Given the description of an element on the screen output the (x, y) to click on. 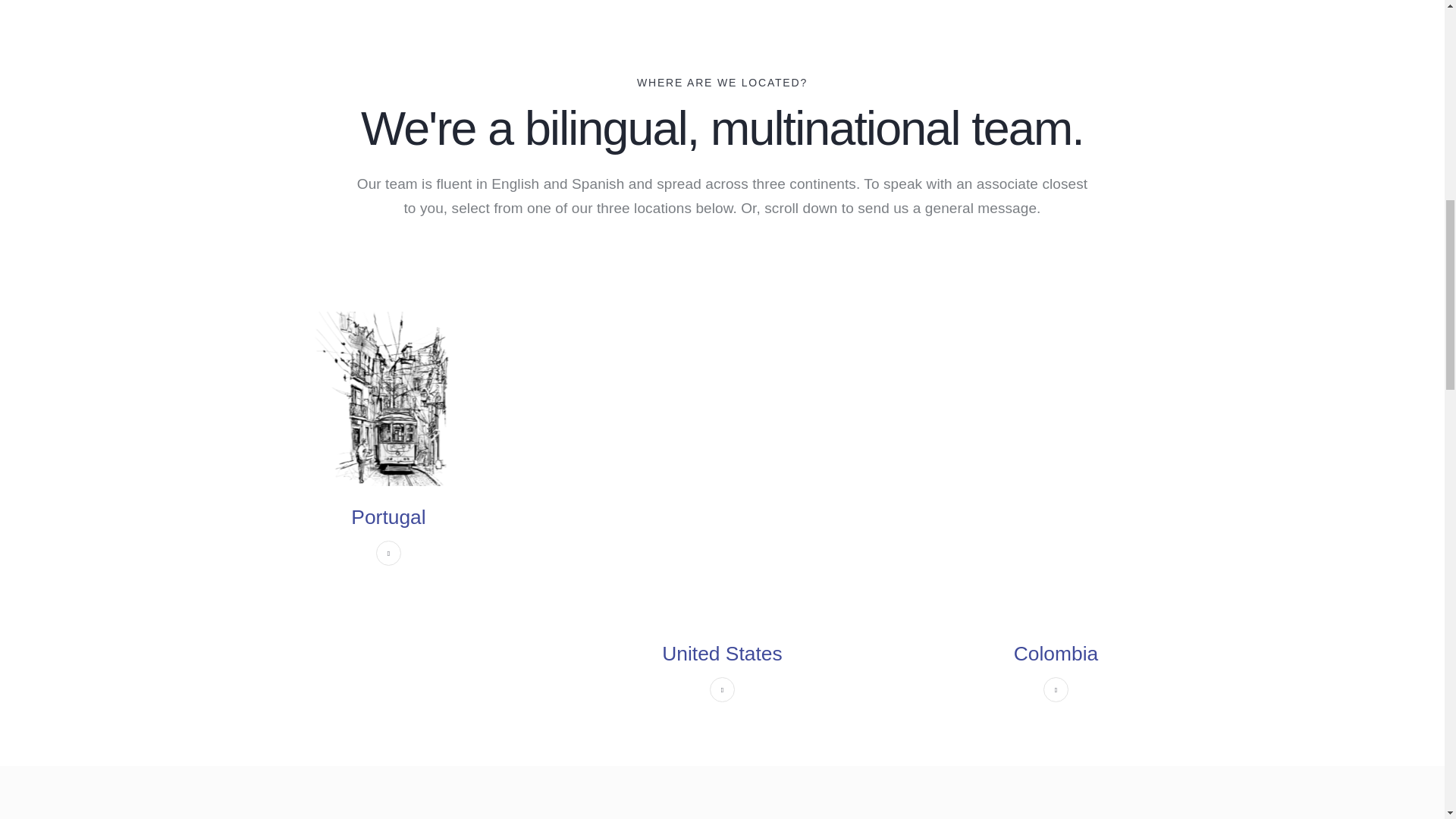
Portugal (388, 517)
Colombia (1055, 654)
United States (721, 654)
